Given the description of an element on the screen output the (x, y) to click on. 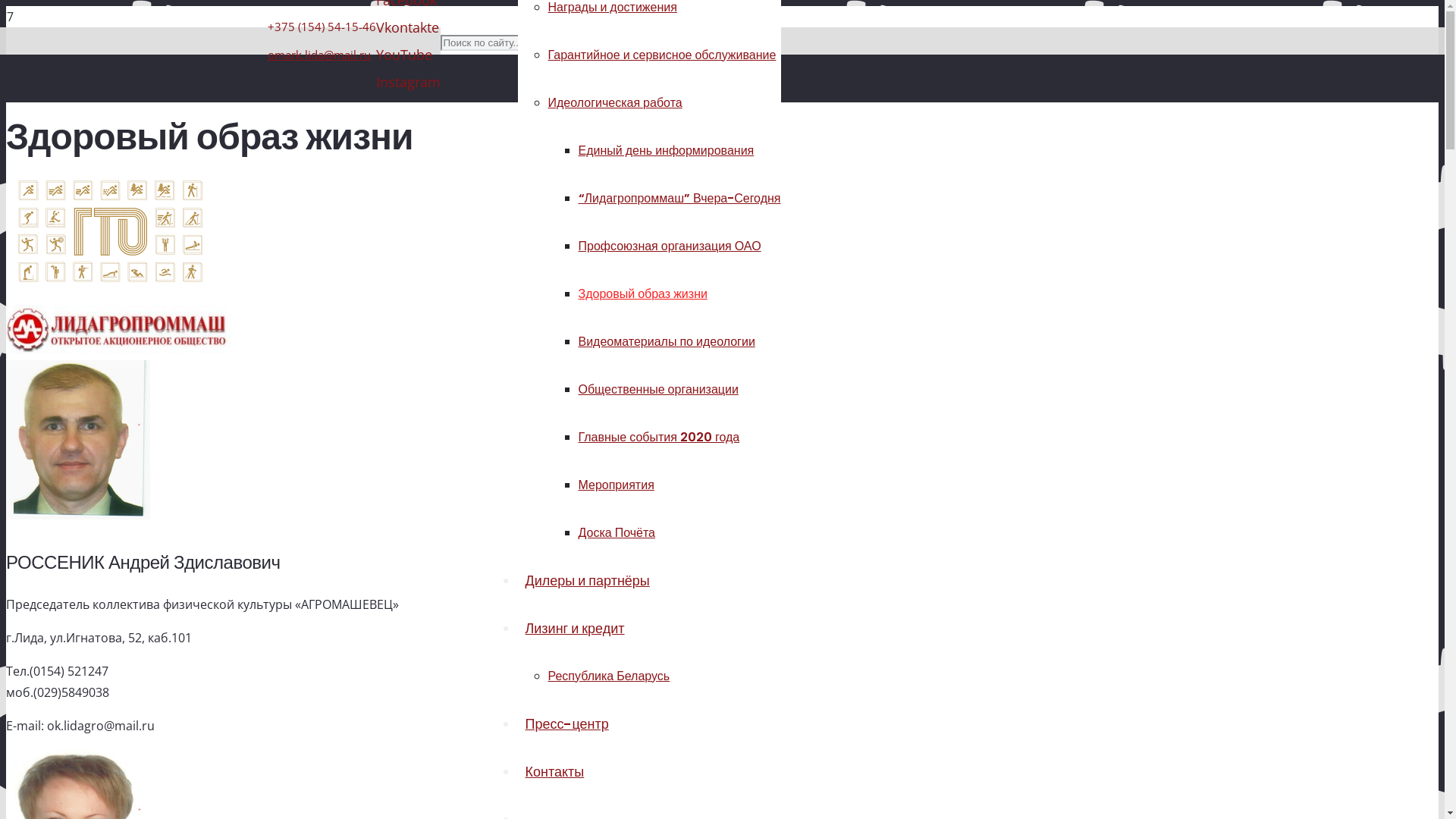
omark.lida@mail.ru Element type: text (318, 54)
